Given the description of an element on the screen output the (x, y) to click on. 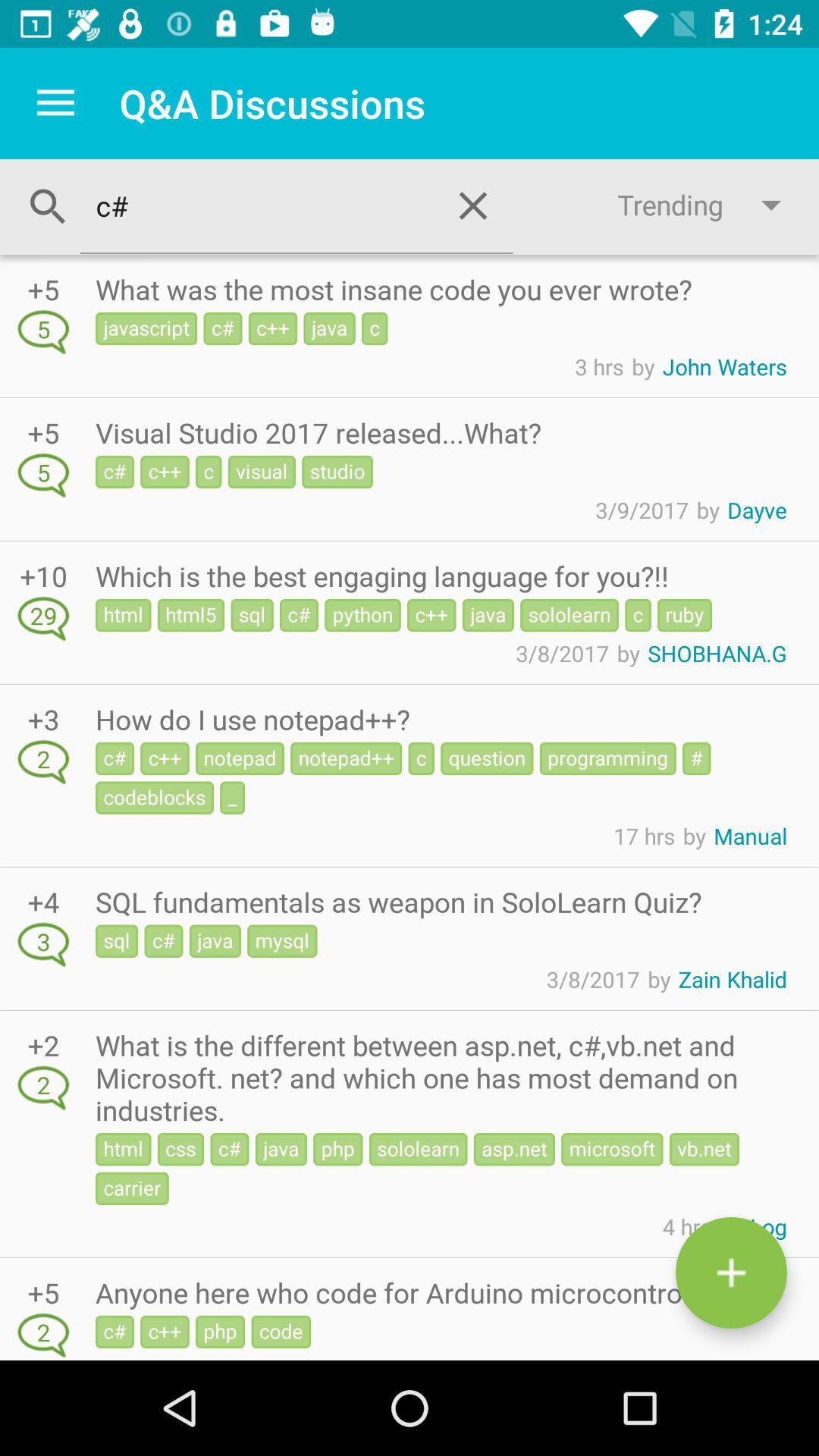
click on the add symbol at the bottom right corner of the page (731, 1273)
click on  icon (731, 1273)
magnifier icon (48, 207)
